Given the description of an element on the screen output the (x, y) to click on. 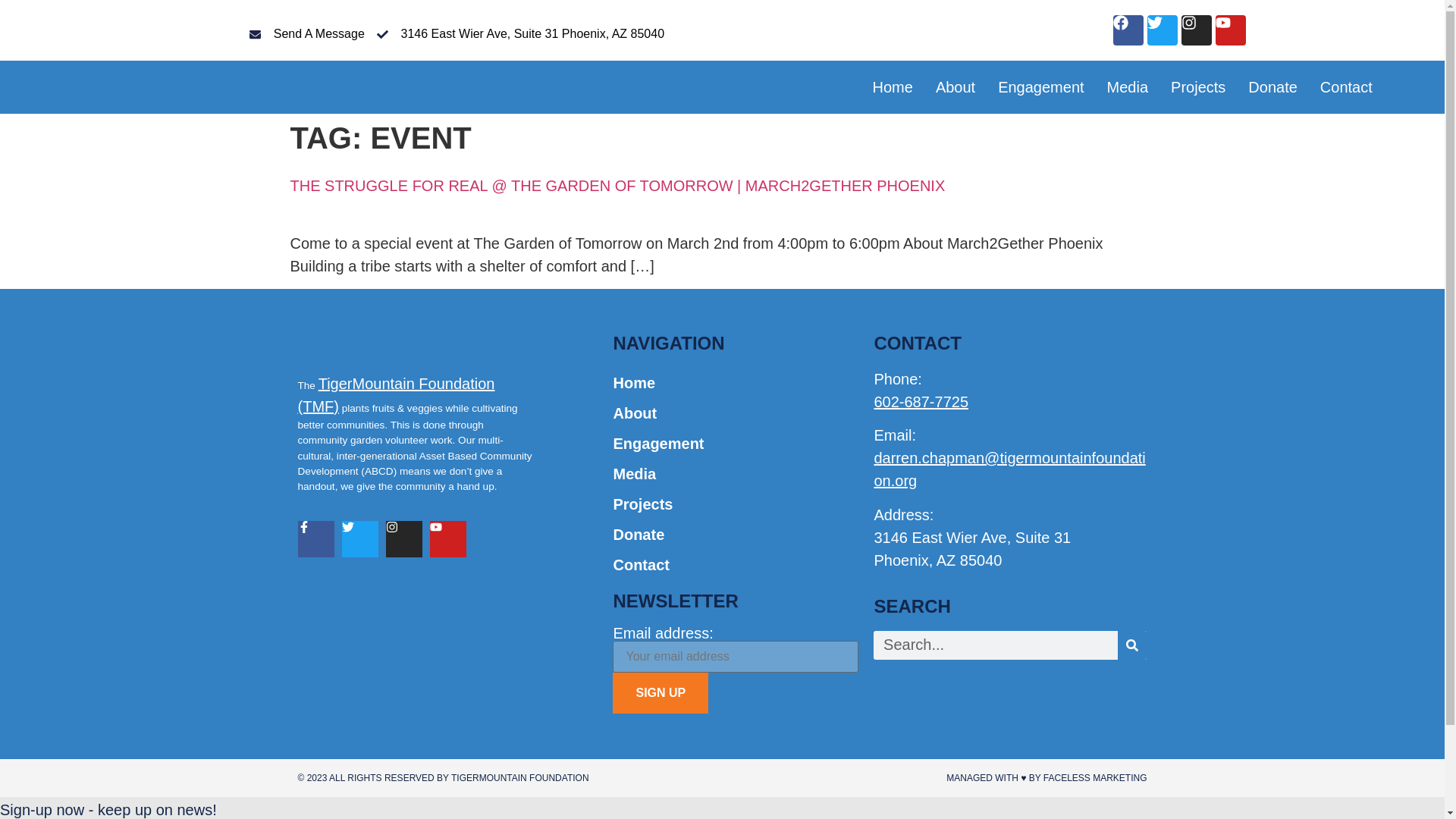
About (955, 86)
Engagement (1040, 86)
Donate (1272, 86)
Projects (1197, 86)
Home (892, 86)
3146 East Wier Ave, Suite 31 Phoenix, AZ 85040 (520, 34)
Send A Message (306, 34)
Media (1127, 86)
Contact (1346, 86)
Sign up (659, 692)
